Given the description of an element on the screen output the (x, y) to click on. 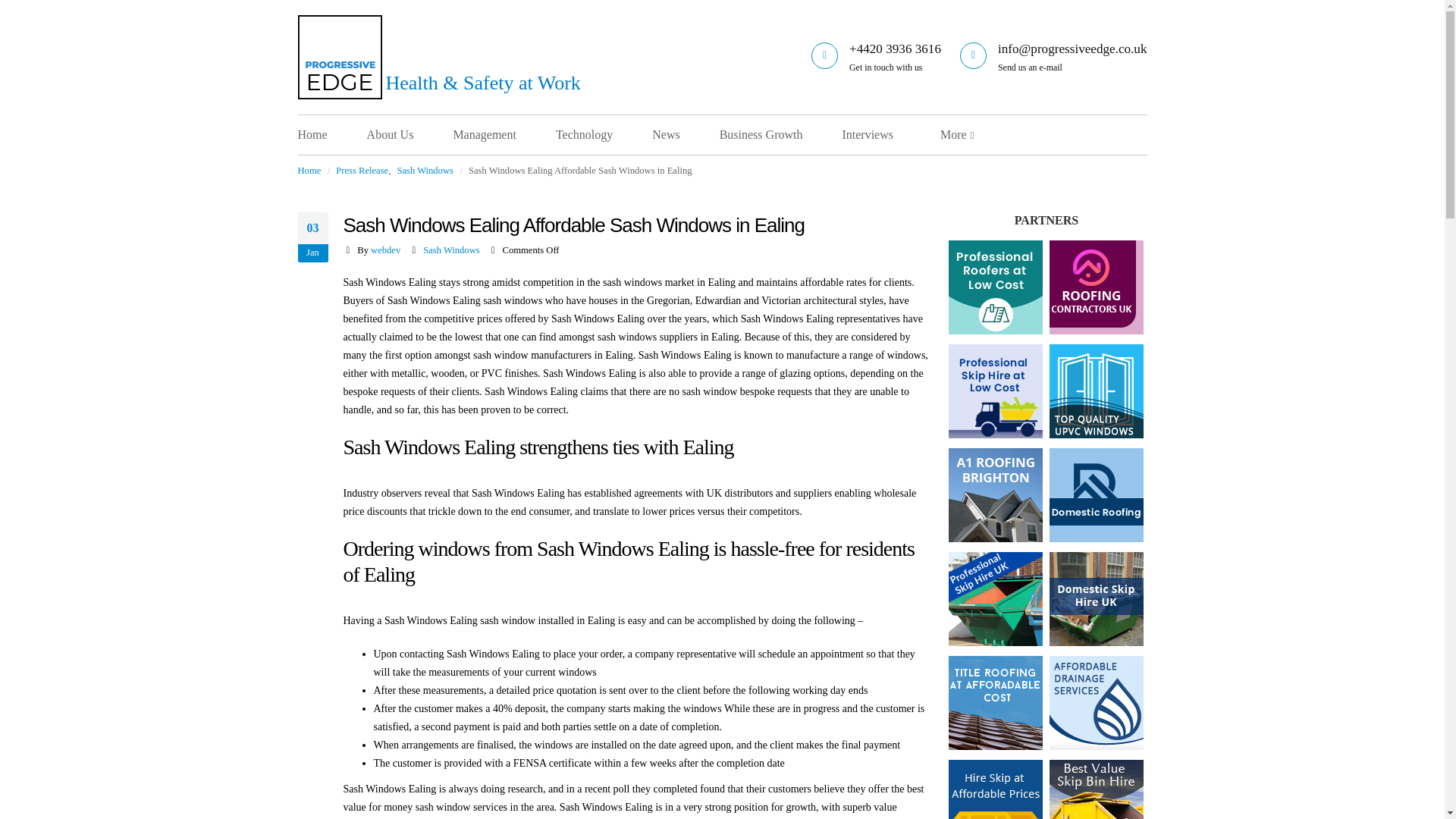
Interviews (886, 134)
Sash Windows (424, 170)
Home (331, 134)
More (953, 134)
Technology (603, 134)
Home (308, 170)
News (684, 134)
Business Growth (780, 134)
Sash Windows (451, 249)
